Given the description of an element on the screen output the (x, y) to click on. 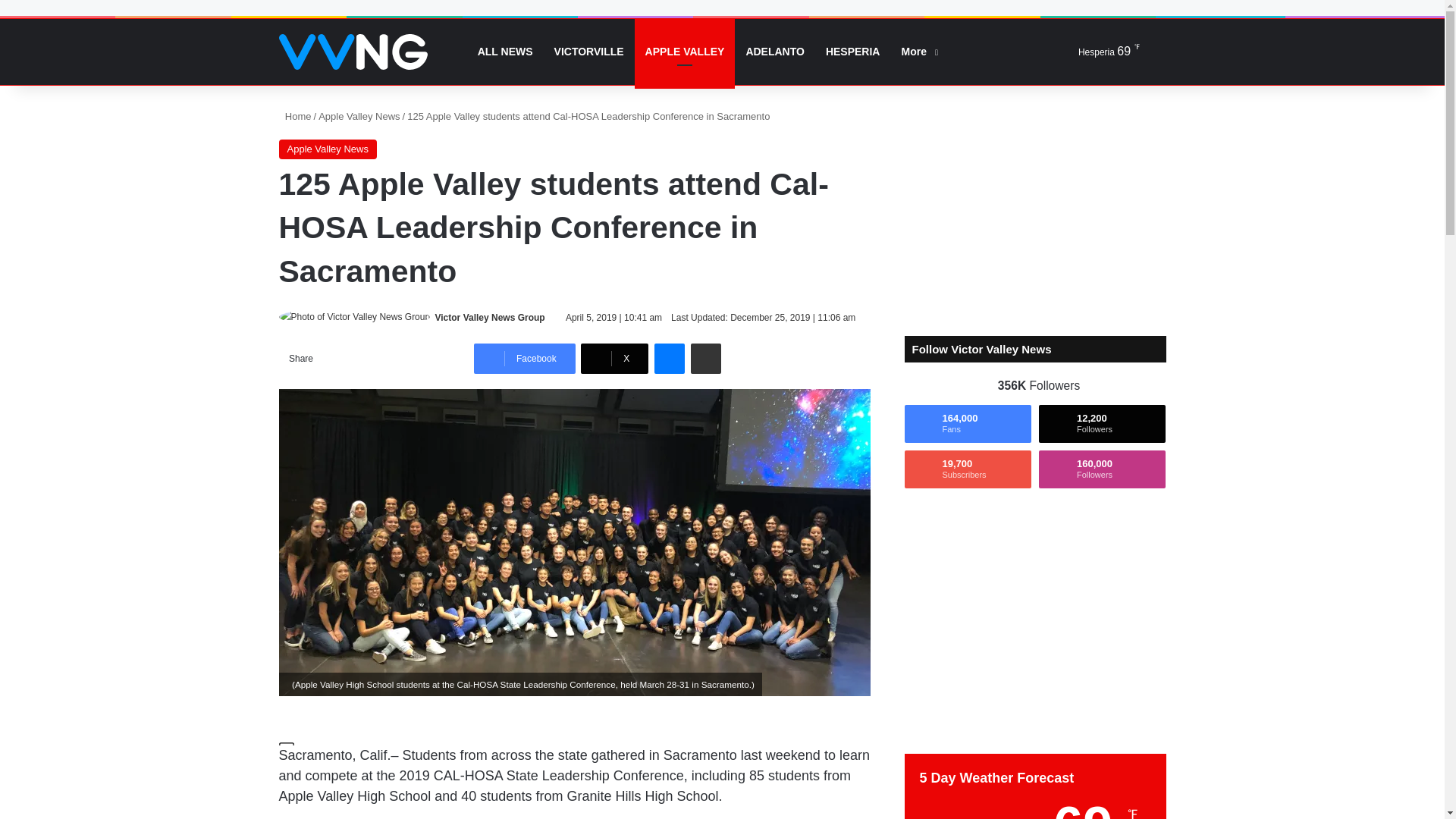
Facebook (524, 358)
Apple Valley News (328, 148)
VVNG - Victor Valley News (353, 51)
Victor Valley News Group (489, 317)
Clear Sky (1095, 51)
ADELANTO (775, 51)
X (613, 358)
ALL NEWS (505, 51)
Messenger (668, 358)
VICTORVILLE (588, 51)
